Given the description of an element on the screen output the (x, y) to click on. 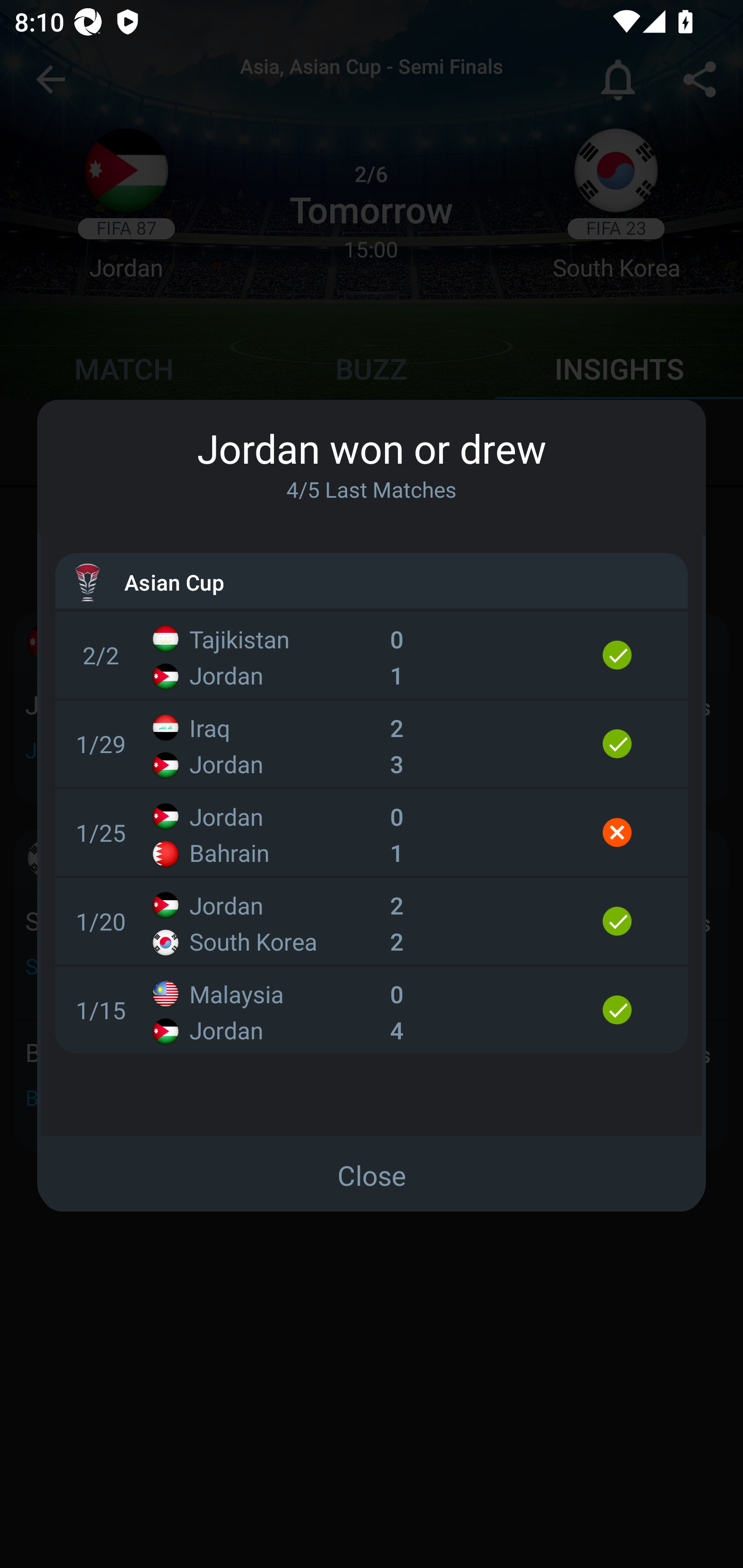
2/2 Tajikistan 0 Jordan 1 (371, 654)
1/29 Iraq 2 Jordan 3 (371, 743)
1/25 Jordan 0 Bahrain 1 (371, 832)
1/20 Jordan 2 South Korea 2 (371, 921)
1/15 Malaysia 0 Jordan 4 (371, 1009)
Close (371, 1175)
